Given the description of an element on the screen output the (x, y) to click on. 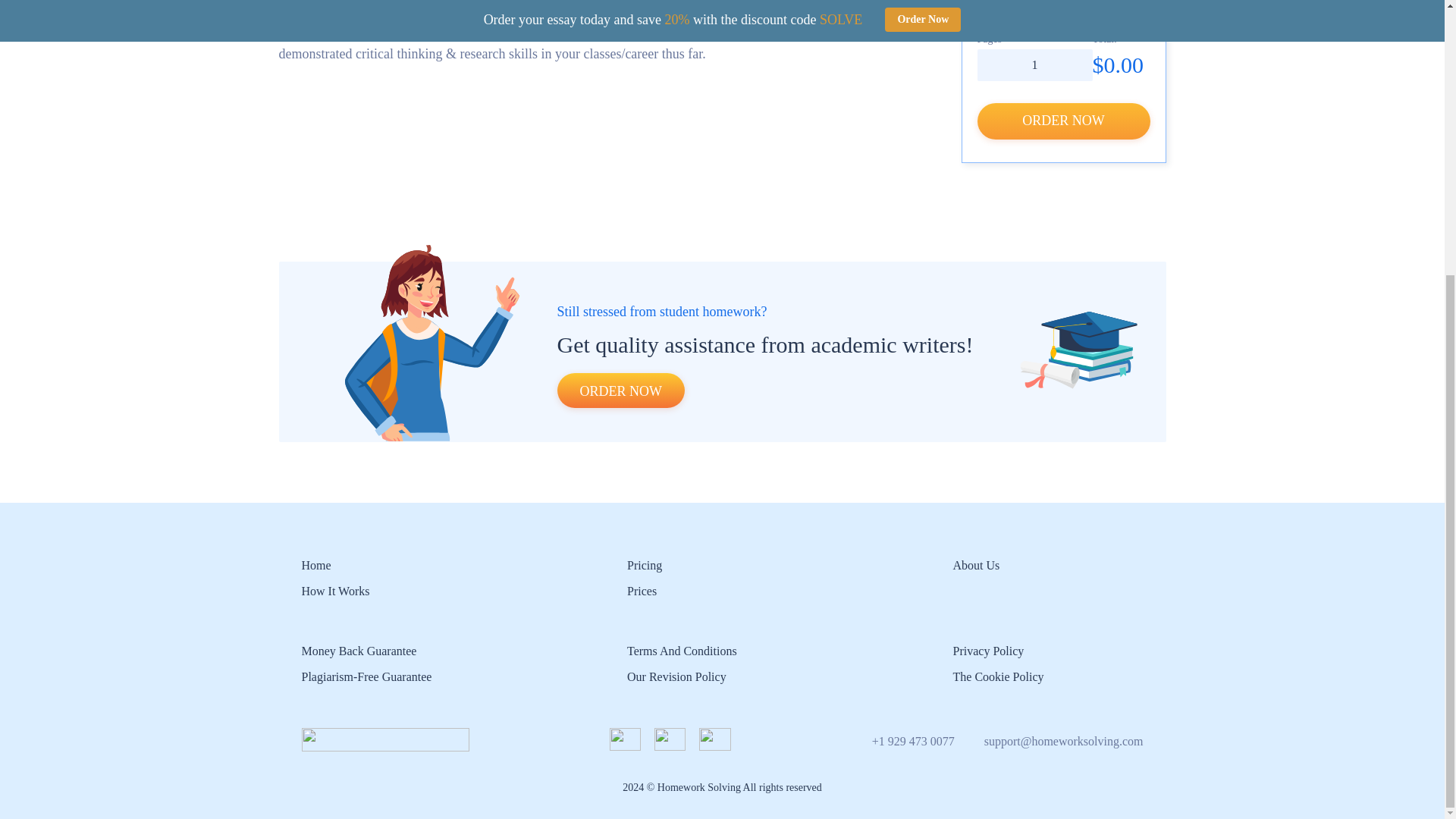
Pricing (644, 564)
Our Revision Policy (676, 676)
About Us (975, 564)
How It Works (335, 590)
ORDER NOW (1063, 121)
ORDER NOW (620, 390)
Prices (641, 590)
Terms And Conditions (681, 650)
Money Back Guarantee (358, 650)
Plagiarism-Free Guarantee (366, 676)
